Given the description of an element on the screen output the (x, y) to click on. 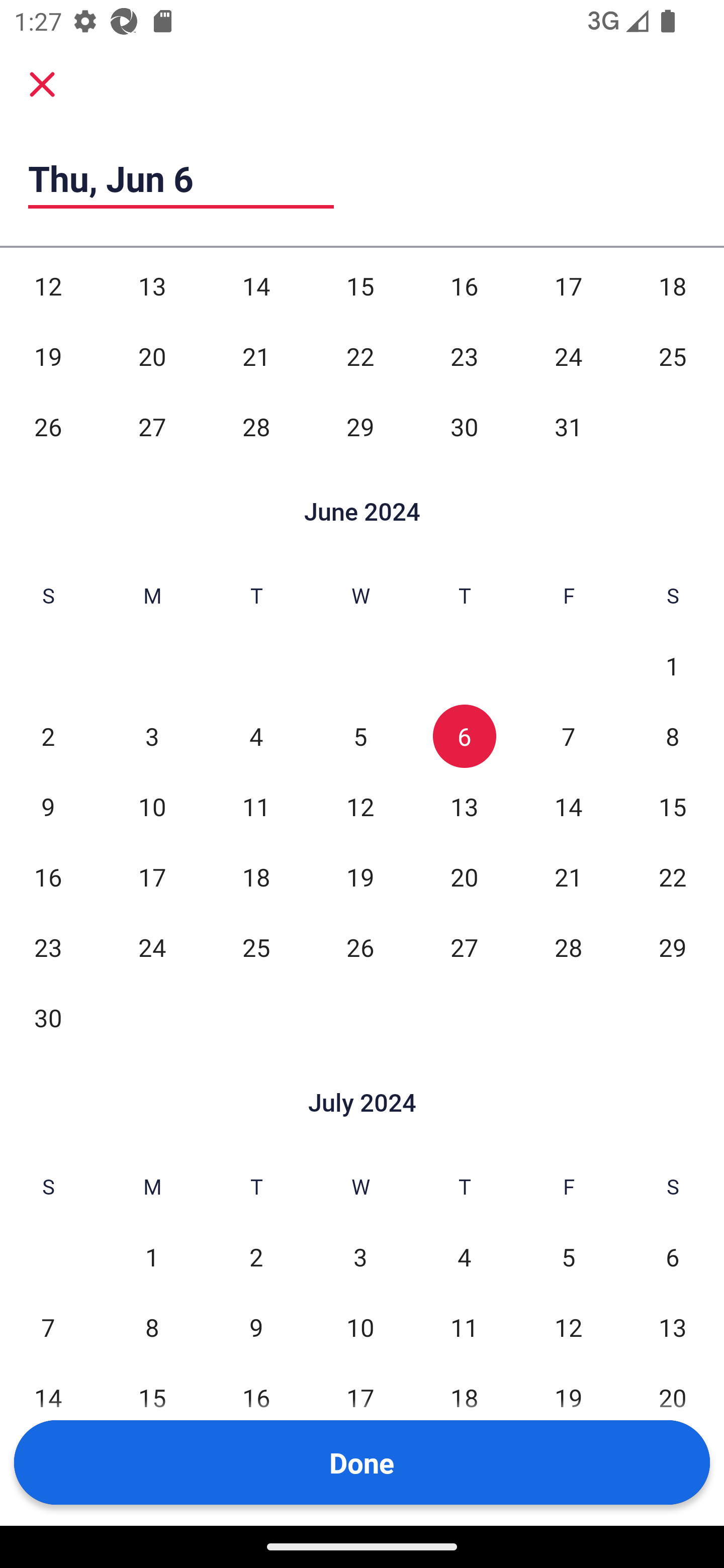
Cancel (42, 84)
Thu, Jun 6 (180, 178)
12 Sun, May 12, Not Selected (48, 285)
13 Mon, May 13, Not Selected (152, 285)
14 Tue, May 14, Not Selected (256, 285)
15 Wed, May 15, Not Selected (360, 285)
16 Thu, May 16, Not Selected (464, 285)
17 Fri, May 17, Not Selected (568, 285)
18 Sat, May 18, Not Selected (672, 285)
19 Sun, May 19, Not Selected (48, 356)
20 Mon, May 20, Not Selected (152, 356)
21 Tue, May 21, Not Selected (256, 356)
22 Wed, May 22, Not Selected (360, 356)
23 Thu, May 23, Not Selected (464, 356)
24 Fri, May 24, Not Selected (568, 356)
25 Sat, May 25, Not Selected (672, 356)
26 Sun, May 26, Not Selected (48, 427)
27 Mon, May 27, Not Selected (152, 427)
28 Tue, May 28, Not Selected (256, 427)
29 Wed, May 29, Not Selected (360, 427)
30 Thu, May 30, Not Selected (464, 427)
31 Fri, May 31, Not Selected (568, 427)
1 Sat, Jun 1, Not Selected (672, 665)
2 Sun, Jun 2, Not Selected (48, 735)
3 Mon, Jun 3, Not Selected (152, 735)
4 Tue, Jun 4, Not Selected (256, 735)
5 Wed, Jun 5, Not Selected (360, 735)
6 Thu, Jun 6, Selected (464, 735)
7 Fri, Jun 7, Not Selected (568, 735)
8 Sat, Jun 8, Not Selected (672, 735)
9 Sun, Jun 9, Not Selected (48, 806)
10 Mon, Jun 10, Not Selected (152, 806)
11 Tue, Jun 11, Not Selected (256, 806)
12 Wed, Jun 12, Not Selected (360, 806)
13 Thu, Jun 13, Not Selected (464, 806)
14 Fri, Jun 14, Not Selected (568, 806)
15 Sat, Jun 15, Not Selected (672, 806)
16 Sun, Jun 16, Not Selected (48, 877)
17 Mon, Jun 17, Not Selected (152, 877)
18 Tue, Jun 18, Not Selected (256, 877)
19 Wed, Jun 19, Not Selected (360, 877)
20 Thu, Jun 20, Not Selected (464, 877)
21 Fri, Jun 21, Not Selected (568, 877)
22 Sat, Jun 22, Not Selected (672, 877)
23 Sun, Jun 23, Not Selected (48, 947)
24 Mon, Jun 24, Not Selected (152, 947)
25 Tue, Jun 25, Not Selected (256, 947)
26 Wed, Jun 26, Not Selected (360, 947)
27 Thu, Jun 27, Not Selected (464, 947)
28 Fri, Jun 28, Not Selected (568, 947)
29 Sat, Jun 29, Not Selected (672, 947)
30 Sun, Jun 30, Not Selected (48, 1017)
1 Mon, Jul 1, Not Selected (152, 1256)
2 Tue, Jul 2, Not Selected (256, 1256)
3 Wed, Jul 3, Not Selected (360, 1256)
4 Thu, Jul 4, Not Selected (464, 1256)
5 Fri, Jul 5, Not Selected (568, 1256)
6 Sat, Jul 6, Not Selected (672, 1256)
7 Sun, Jul 7, Not Selected (48, 1327)
8 Mon, Jul 8, Not Selected (152, 1327)
9 Tue, Jul 9, Not Selected (256, 1327)
10 Wed, Jul 10, Not Selected (360, 1327)
11 Thu, Jul 11, Not Selected (464, 1327)
12 Fri, Jul 12, Not Selected (568, 1327)
13 Sat, Jul 13, Not Selected (672, 1327)
14 Sun, Jul 14, Not Selected (48, 1397)
15 Mon, Jul 15, Not Selected (152, 1397)
16 Tue, Jul 16, Not Selected (256, 1397)
17 Wed, Jul 17, Not Selected (360, 1397)
18 Thu, Jul 18, Not Selected (464, 1397)
19 Fri, Jul 19, Not Selected (568, 1397)
20 Sat, Jul 20, Not Selected (672, 1397)
Done Button Done (361, 1462)
